Given the description of an element on the screen output the (x, y) to click on. 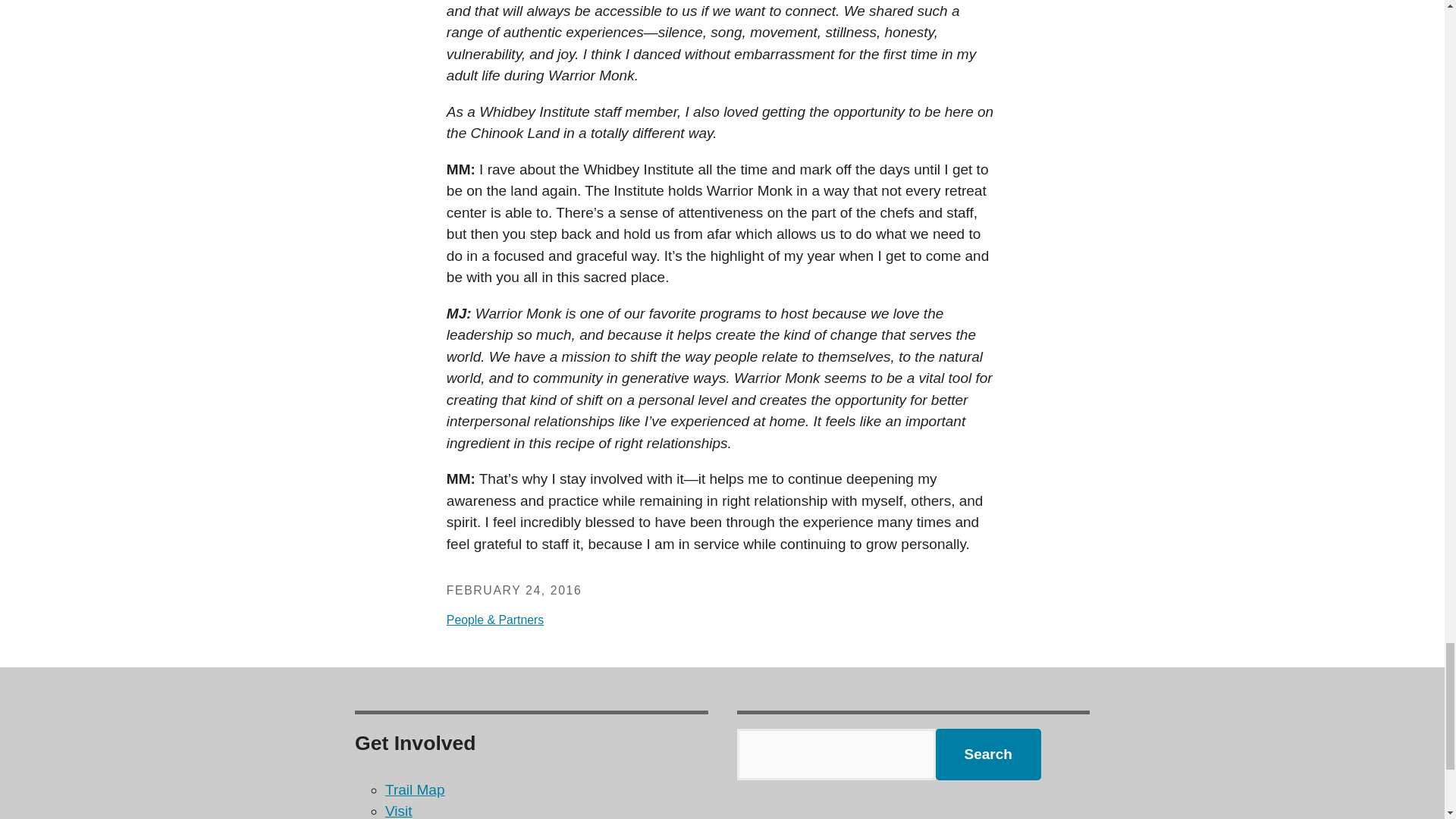
Trail Map (414, 789)
Search (988, 754)
Search (988, 754)
Visit (398, 811)
